Given the description of an element on the screen output the (x, y) to click on. 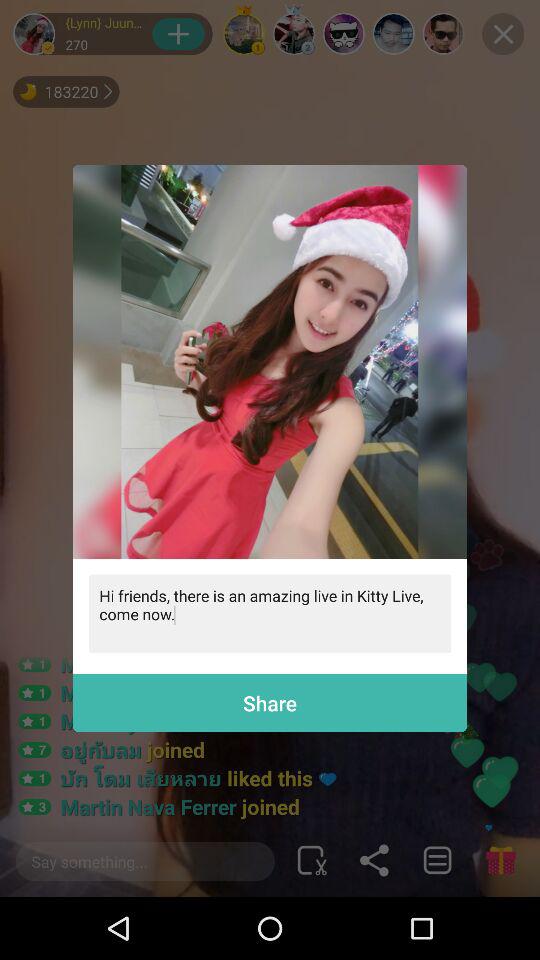
tap the item above the hi friends there item (269, 361)
